Given the description of an element on the screen output the (x, y) to click on. 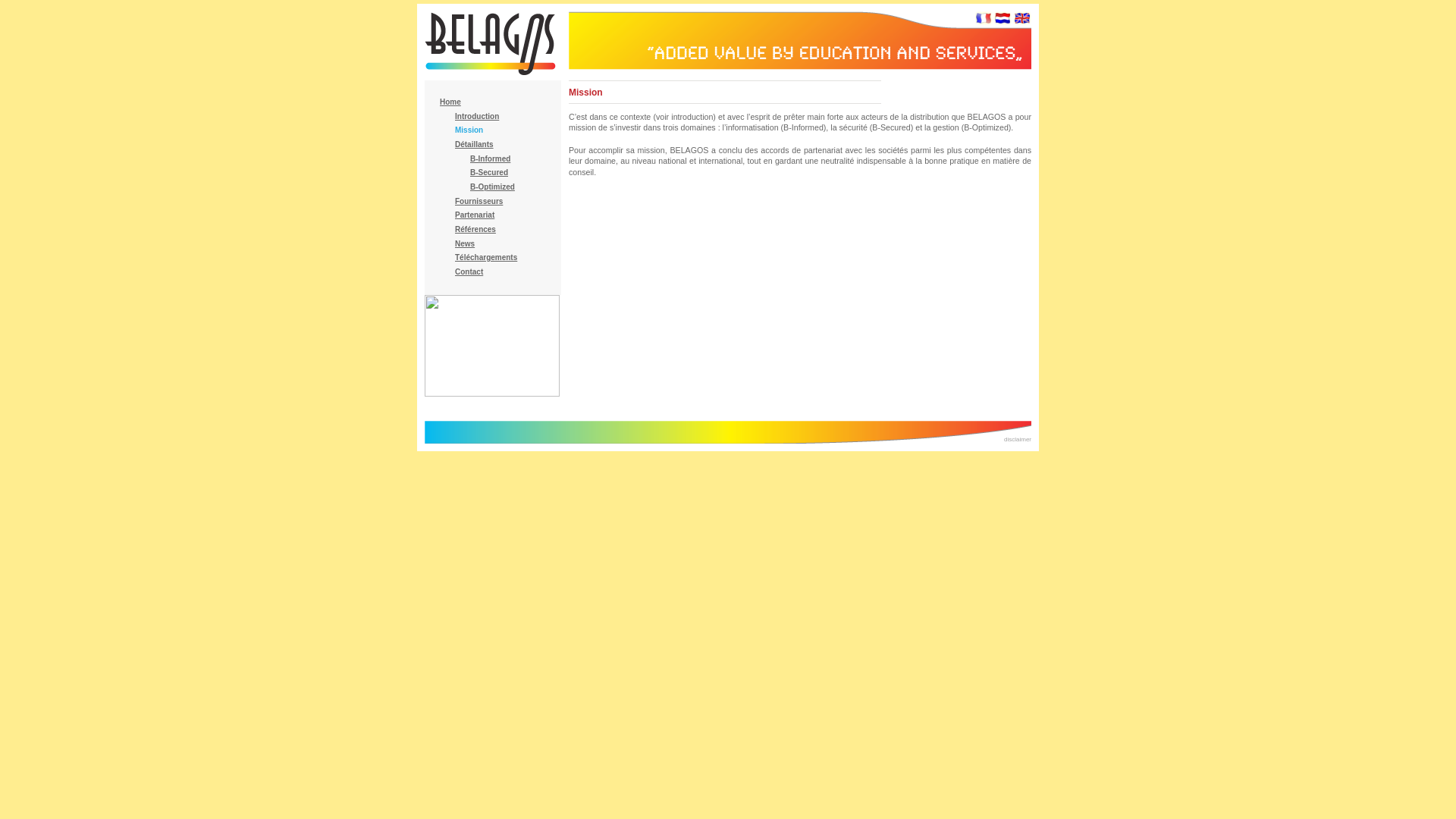
Partenariat Element type: text (474, 214)
B-Optimized Element type: text (492, 186)
Home Element type: text (450, 101)
Fournisseurs Element type: text (478, 201)
Introduction Element type: text (476, 116)
News Element type: text (464, 243)
B-Secured Element type: text (489, 172)
disclaimer Element type: text (1017, 439)
B-Informed Element type: text (490, 158)
Mission Element type: text (469, 129)
Contact Element type: text (469, 271)
